Given the description of an element on the screen output the (x, y) to click on. 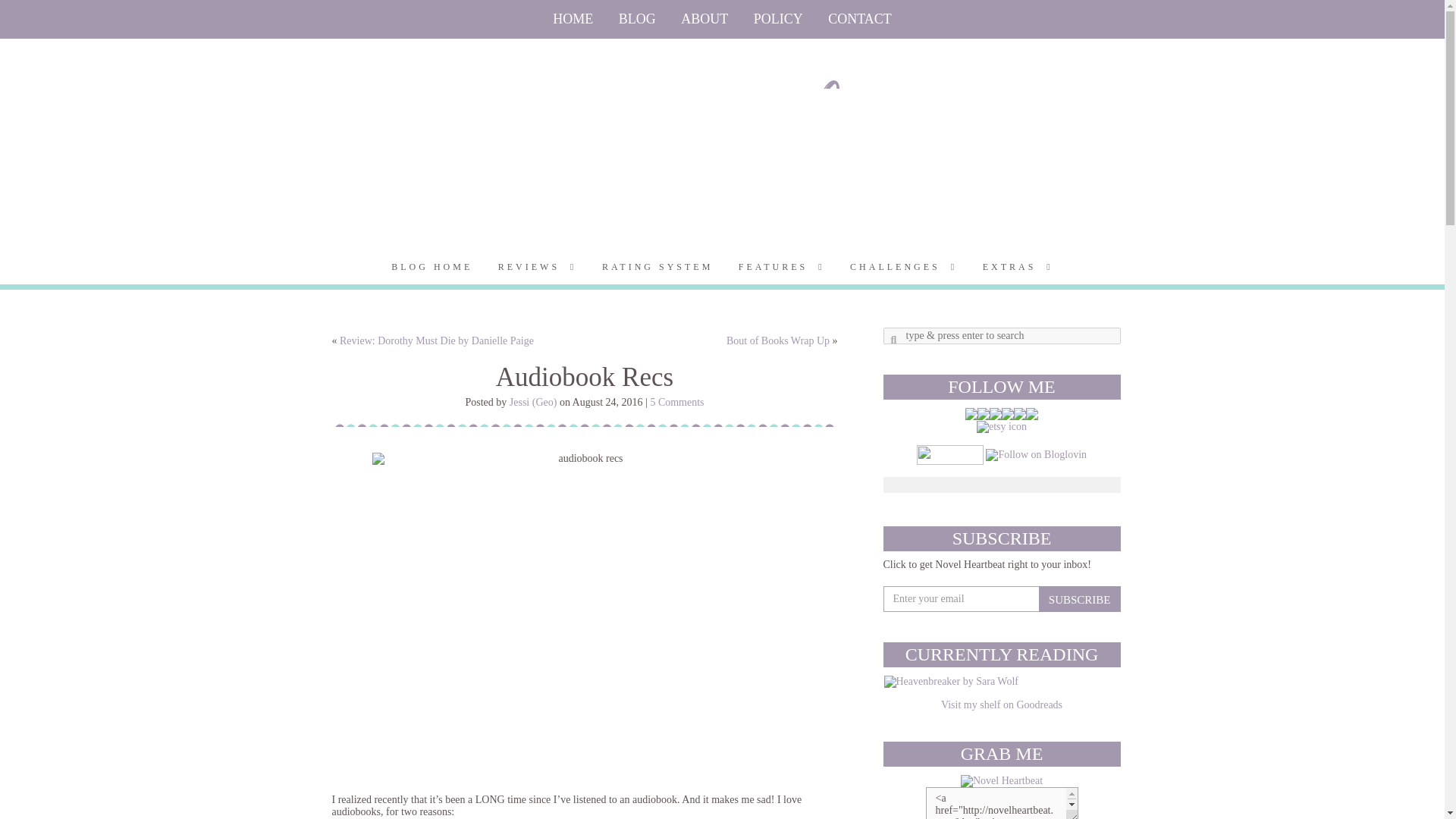
REVIEWS   (537, 267)
ABOUT (704, 19)
RATING SYSTEM (657, 267)
CONTACT (859, 19)
BLOG HOME (431, 267)
FEATURES   (780, 267)
Follow Novel Heartbeat on Bloglovin (1035, 453)
POLICY (777, 19)
CHALLENGES   (903, 267)
BLOG (636, 19)
